Given the description of an element on the screen output the (x, y) to click on. 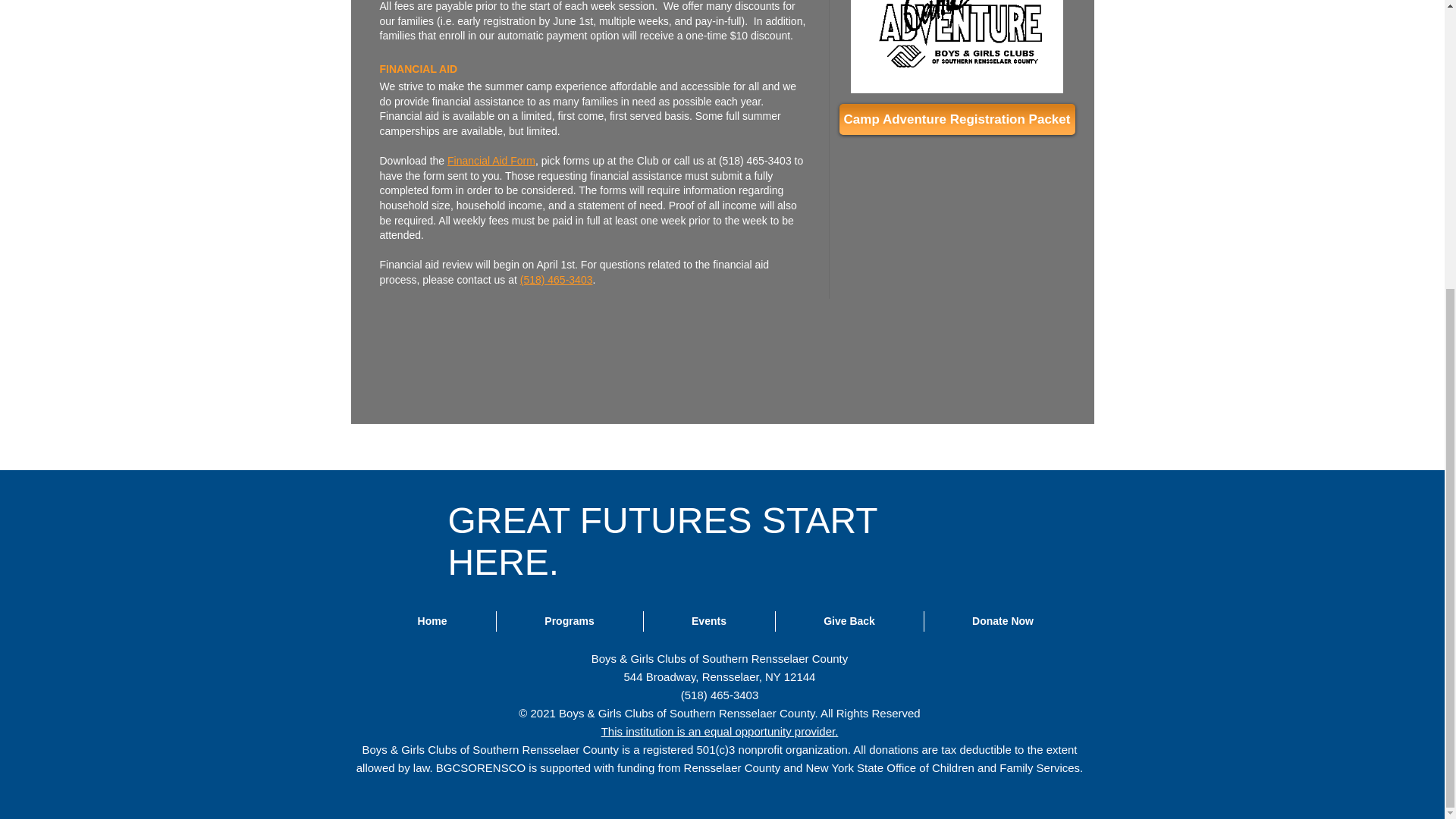
Camp Adventure Registration Packet (956, 119)
Home (431, 620)
Financial Aid Form (490, 160)
Programs (569, 620)
